Given the description of an element on the screen output the (x, y) to click on. 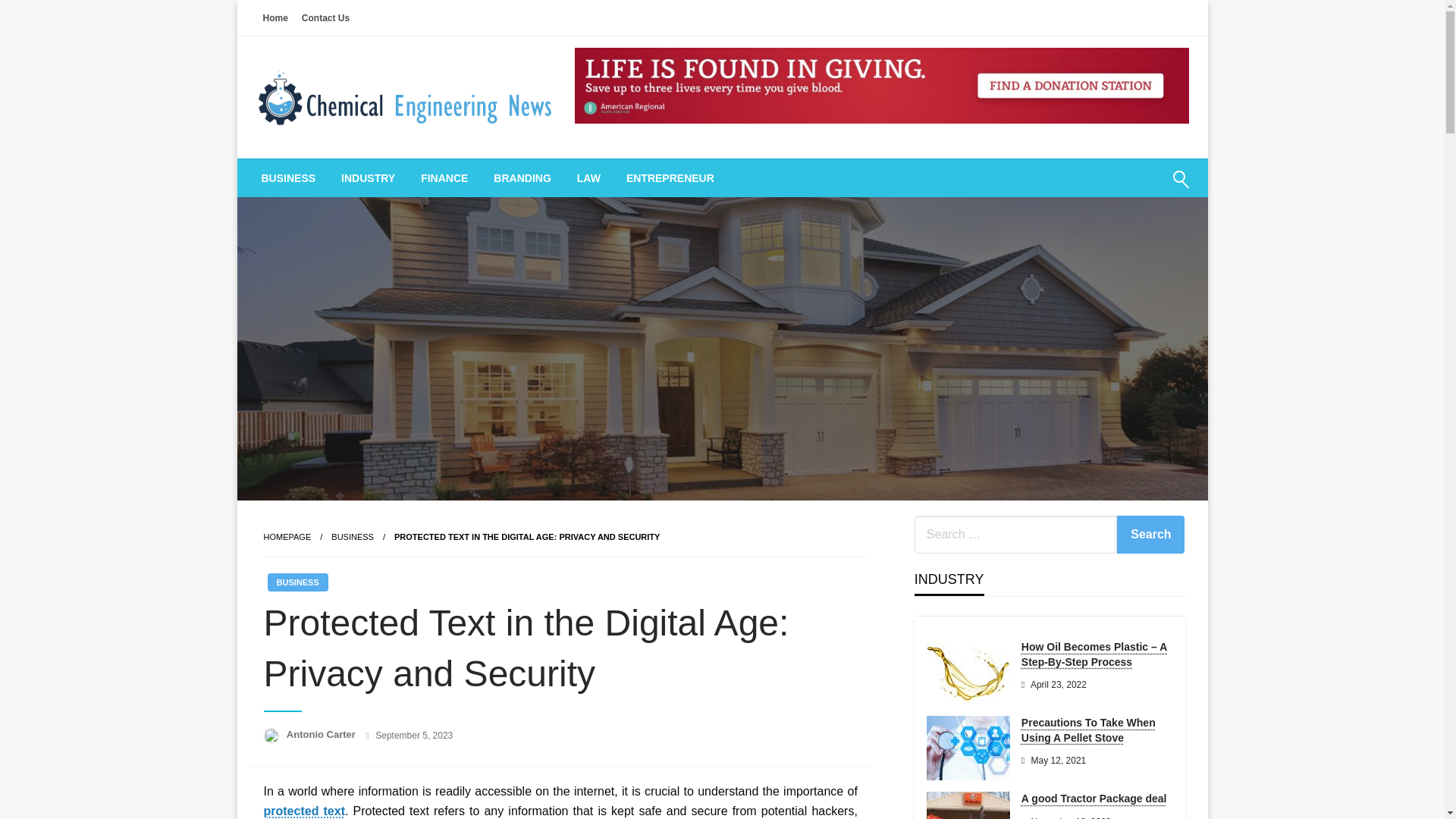
Search (1150, 534)
Home (275, 17)
HOMEPAGE (287, 536)
Protected Text in the Digital Age: Privacy and Security (526, 536)
Antonio Carter (322, 734)
Homepage (287, 536)
BUSINESS (288, 177)
BRANDING (521, 177)
LAW (588, 177)
INDUSTRY (368, 177)
Antonio Carter (322, 734)
Search (1150, 534)
Contact Us (325, 17)
BUSINESS (352, 536)
Business (352, 536)
